Given the description of an element on the screen output the (x, y) to click on. 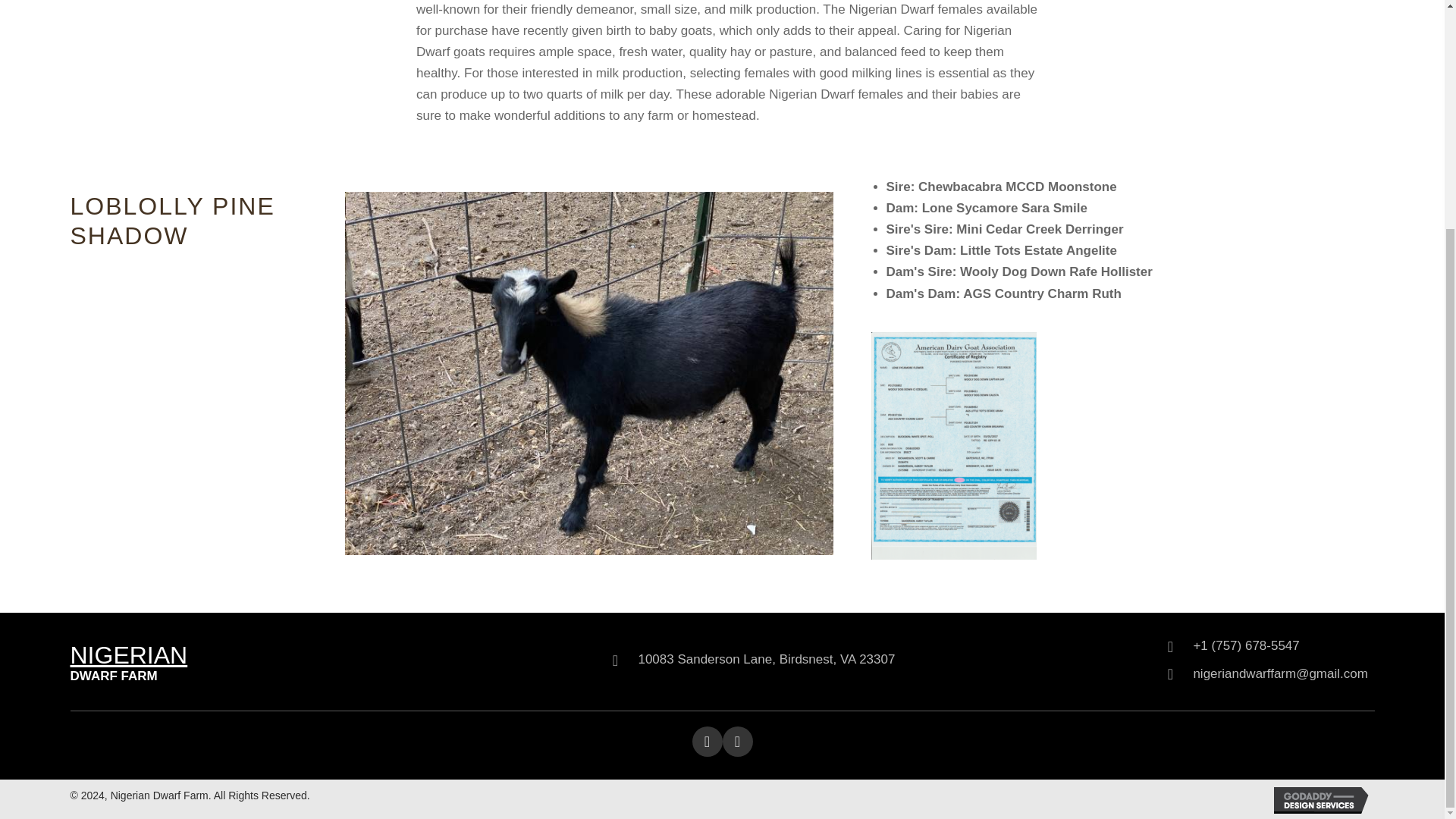
Youtube (737, 741)
Facebook (706, 741)
